Given the description of an element on the screen output the (x, y) to click on. 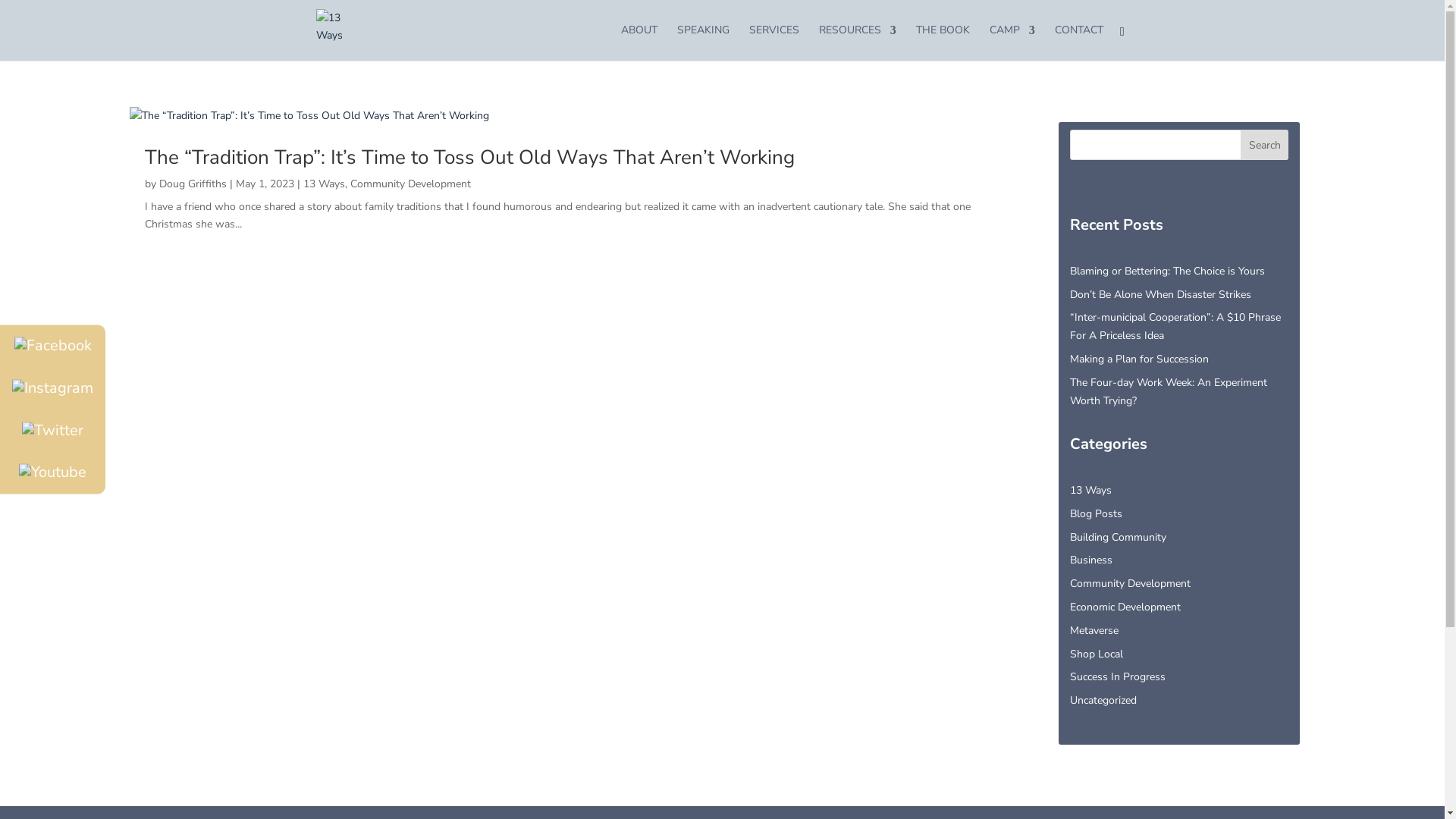
Building Community Element type: text (1118, 537)
Uncategorized Element type: text (1103, 700)
Business Element type: text (1091, 559)
Doug Griffiths Element type: text (192, 183)
Community Development Element type: text (1130, 583)
Economic Development Element type: text (1125, 606)
13 Ways Element type: text (1090, 490)
THE BOOK Element type: text (942, 42)
Blog Posts Element type: text (1096, 513)
Blaming or Bettering: The Choice is Yours Element type: text (1167, 270)
Community Development Element type: text (410, 183)
CAMP Element type: text (1012, 42)
SERVICES Element type: text (774, 42)
RESOURCES Element type: text (857, 42)
Shop Local Element type: text (1096, 653)
The Four-day Work Week: An Experiment Worth Trying? Element type: text (1168, 391)
Search Element type: text (1264, 144)
CONTACT Element type: text (1078, 42)
SPEAKING Element type: text (703, 42)
Success In Progress Element type: text (1117, 676)
Making a Plan for Succession Element type: text (1139, 358)
Metaverse Element type: text (1094, 630)
ABOUT Element type: text (639, 42)
13 Ways Element type: text (324, 183)
